Given the description of an element on the screen output the (x, y) to click on. 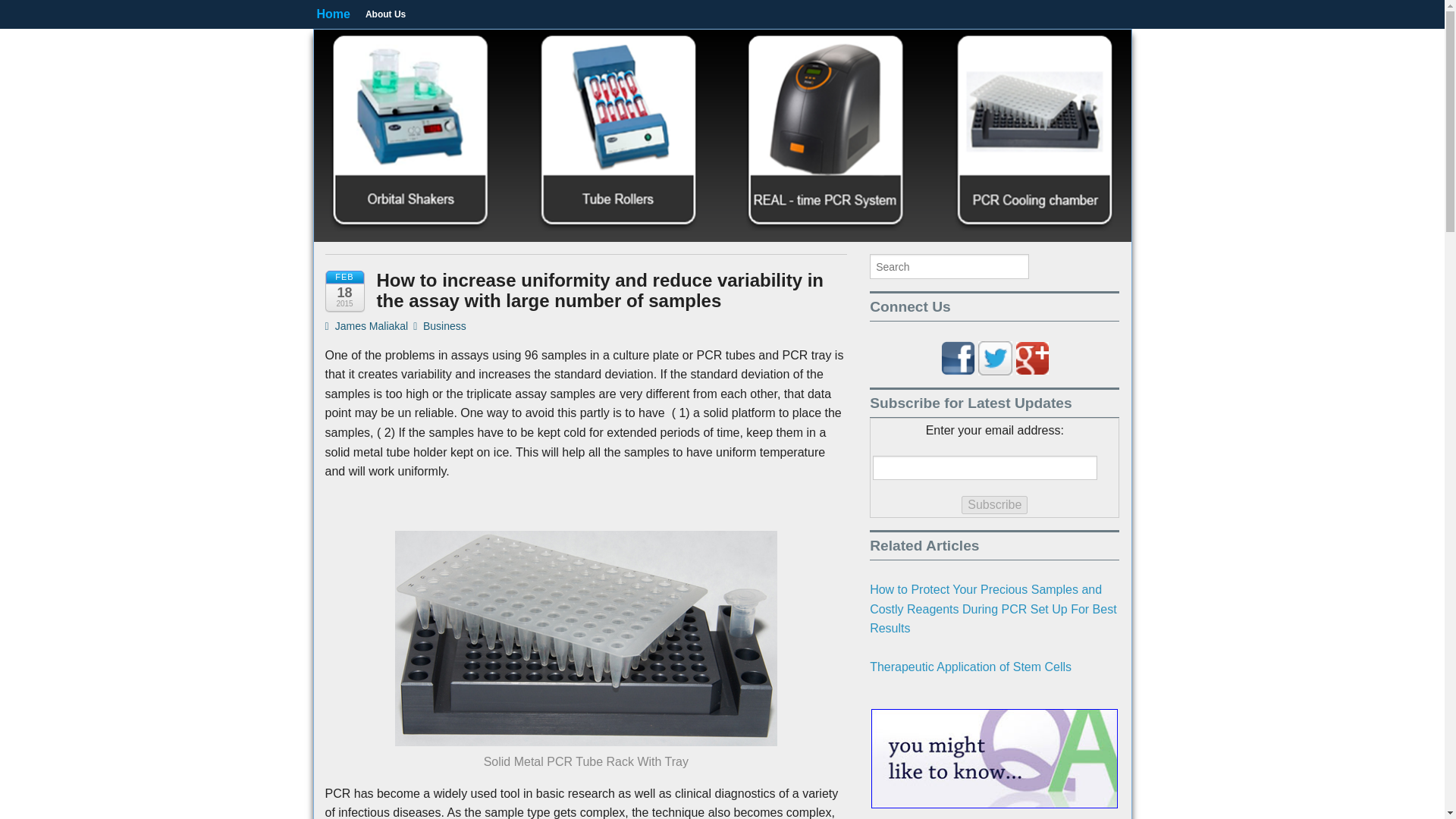
Subscribe (993, 505)
Pioneer Scientific (479, 55)
View all posts by James Maliakal (365, 326)
Pioneer Scientific (479, 55)
Therapeutic Application of Stem Cells (970, 666)
Business (444, 326)
Subscribe (993, 505)
About Us (384, 14)
James Maliakal (365, 326)
Search (25, 9)
View all posts filed under Business (444, 326)
Home (333, 14)
